Given the description of an element on the screen output the (x, y) to click on. 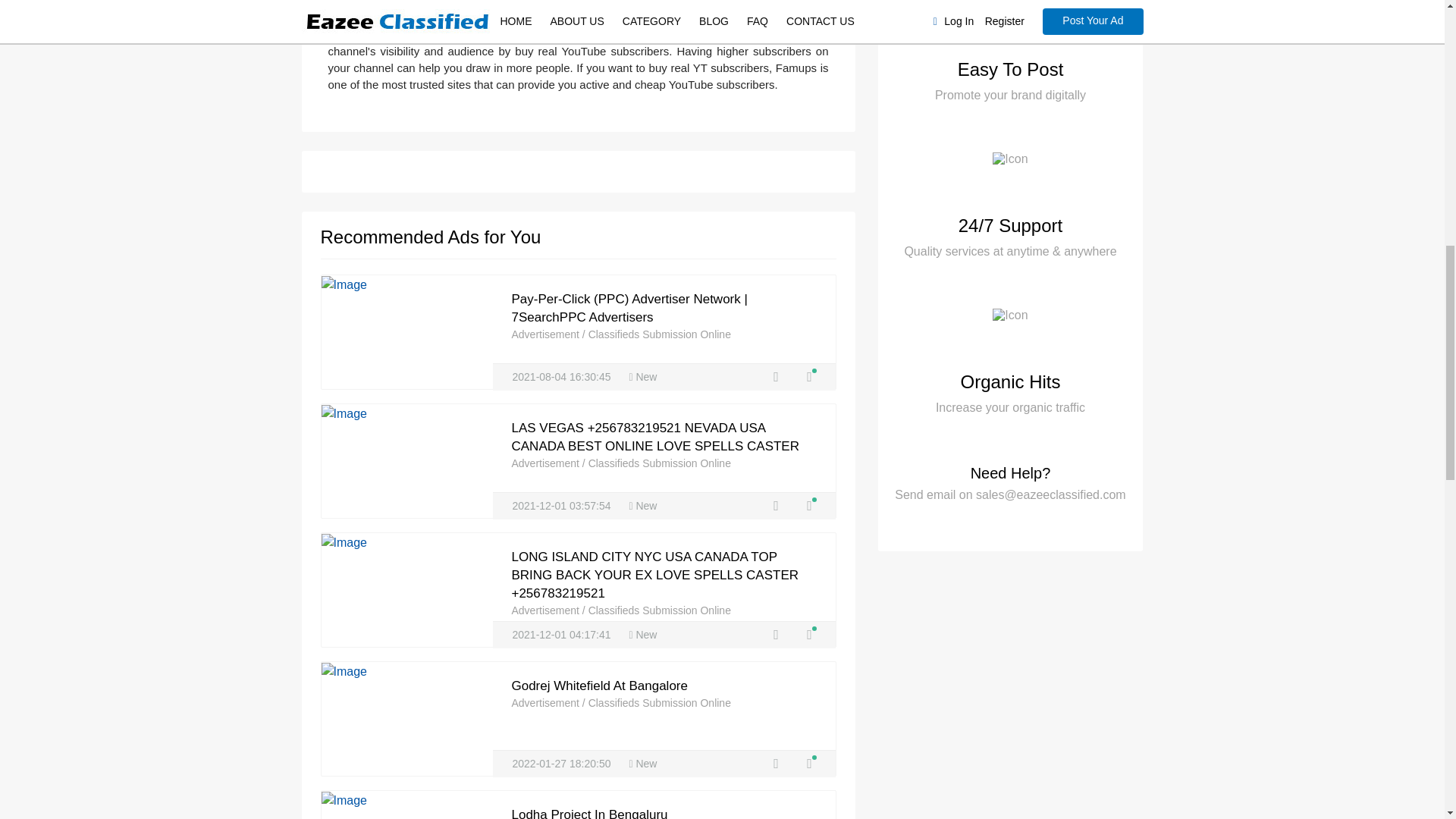
Advertisement (545, 334)
Classifieds Submission Online (659, 334)
7searchppc (808, 376)
PSYCHIC MAGGU (808, 506)
Whitefield, Bangalore, Bangalore, Karnataka, India (776, 764)
2021-08-04 16:30:45 (562, 377)
Godrej Properties (808, 764)
New (642, 377)
PSYCHIC MAGGU (808, 634)
